Given the description of an element on the screen output the (x, y) to click on. 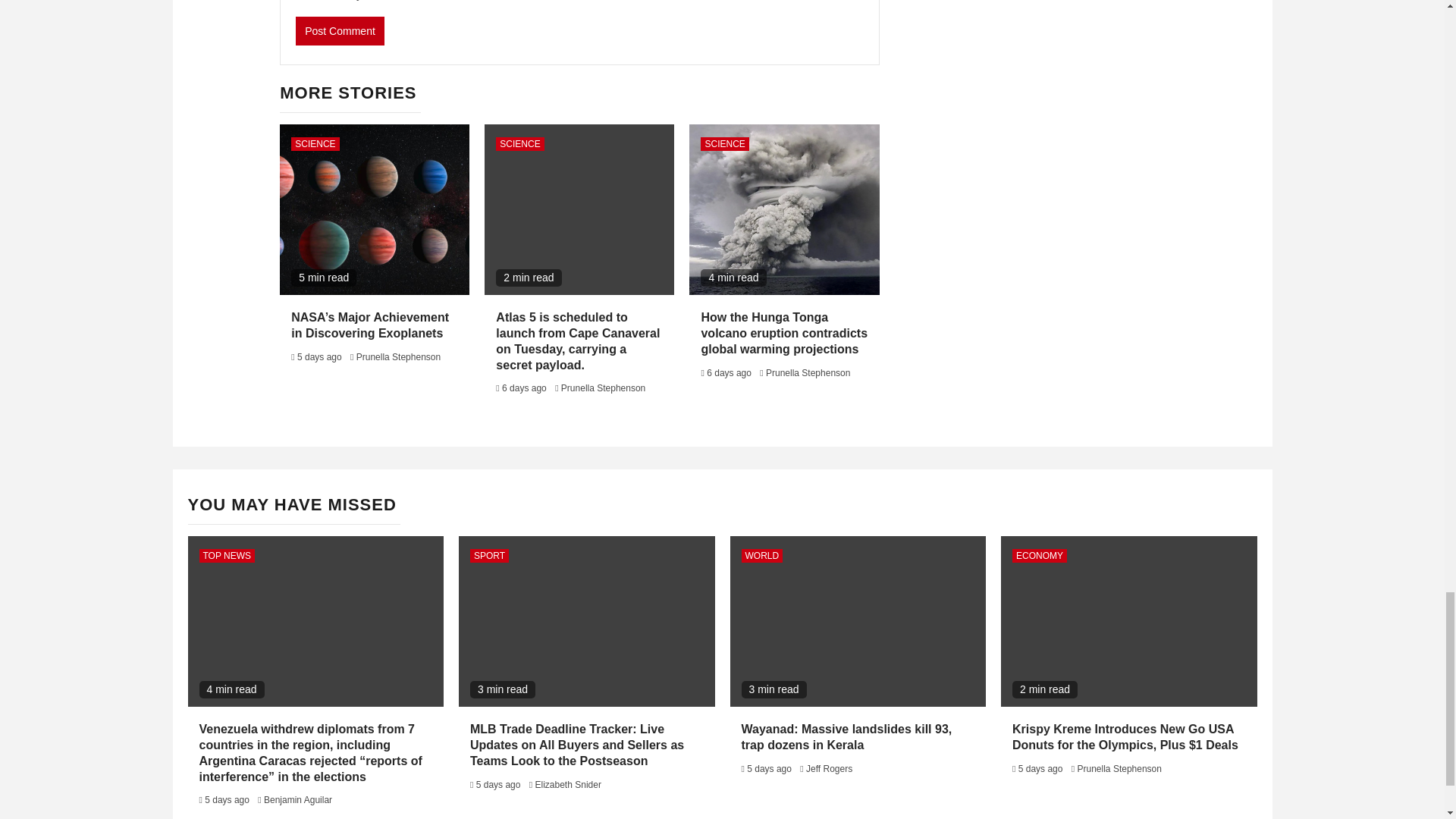
Post Comment (339, 30)
Prunella Stephenson (398, 357)
SCIENCE (519, 143)
Post Comment (339, 30)
SCIENCE (315, 143)
